Given the description of an element on the screen output the (x, y) to click on. 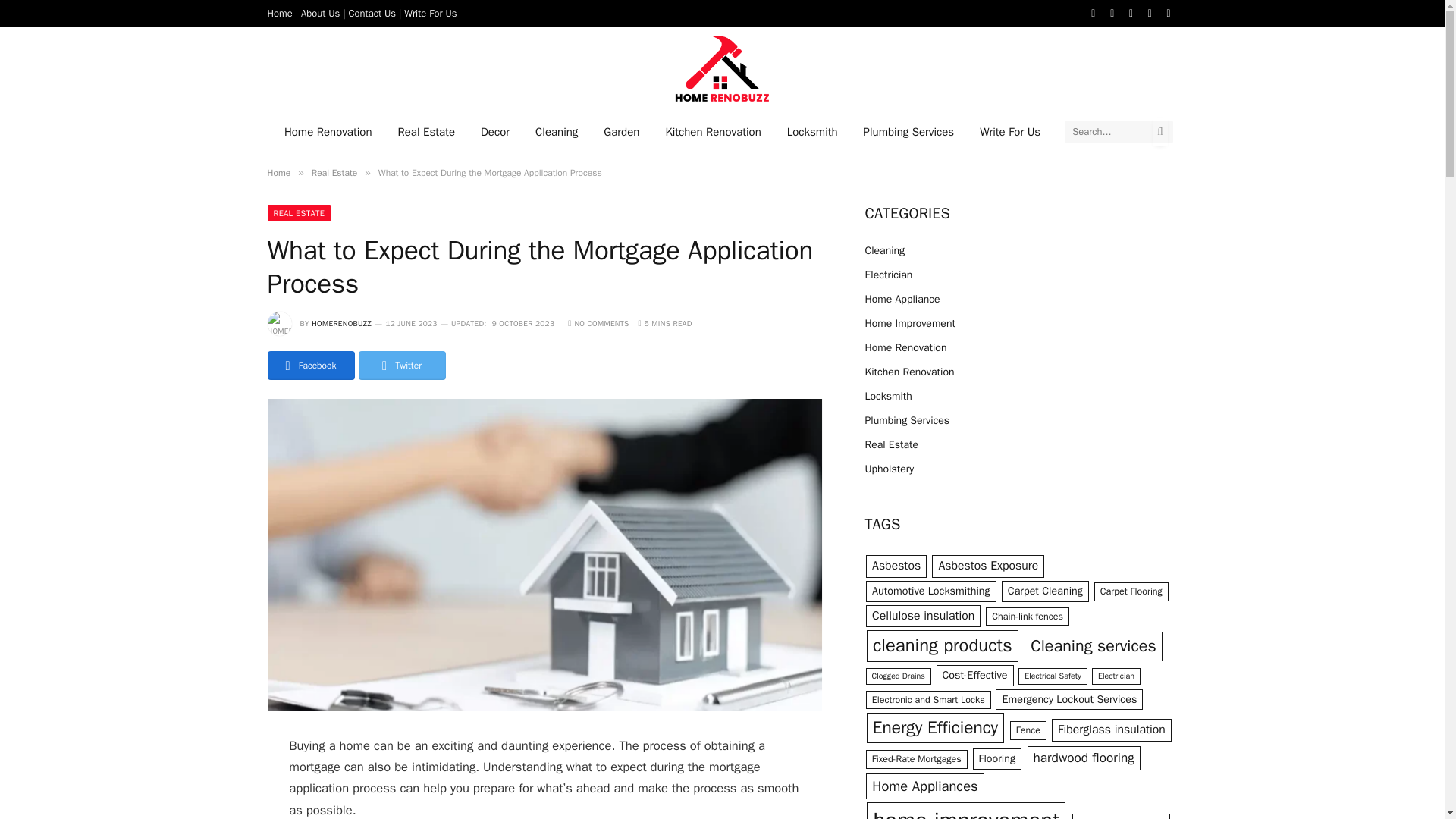
About Us (320, 12)
REAL ESTATE (298, 212)
Home Renovation (327, 131)
Plumbing Services (909, 131)
Cleaning (556, 131)
Decor (494, 131)
LinkedIn (1149, 13)
Write For Us (1009, 131)
Contact Us (372, 12)
Write For Us (430, 12)
Kitchen Renovation (712, 131)
Twitter (1112, 13)
Posts by Homerenobuzz (341, 323)
